Given the description of an element on the screen output the (x, y) to click on. 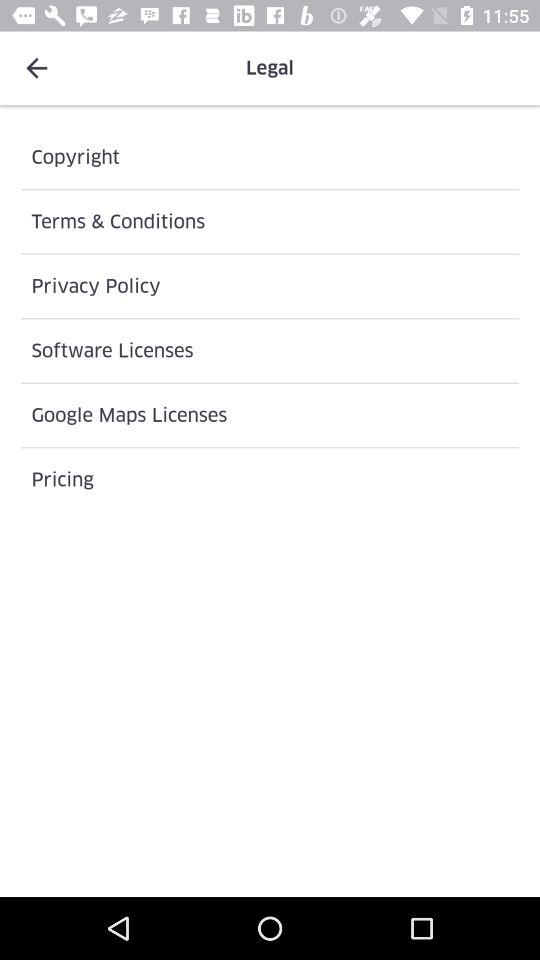
launch the privacy policy (270, 286)
